Given the description of an element on the screen output the (x, y) to click on. 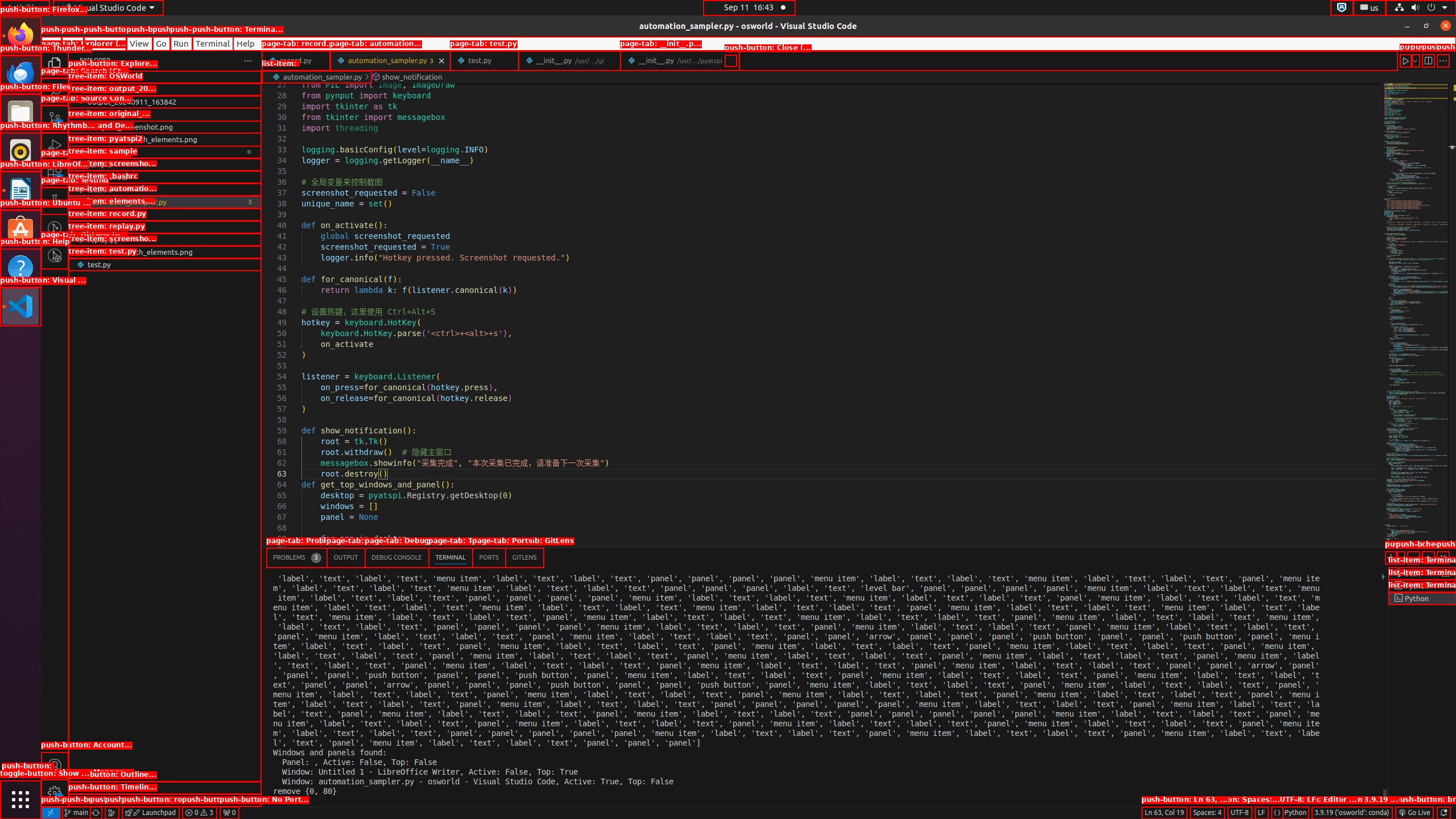
Search (Ctrl+Shift+F) Element type: page-tab (54, 91)
Launch Profile... Element type: push-button (1399, 557)
Output (Ctrl+K Ctrl+H) Element type: page-tab (345, 557)
LF Element type: push-button (1261, 812)
Run and Debug (Ctrl+Shift+D) Element type: page-tab (54, 145)
